Given the description of an element on the screen output the (x, y) to click on. 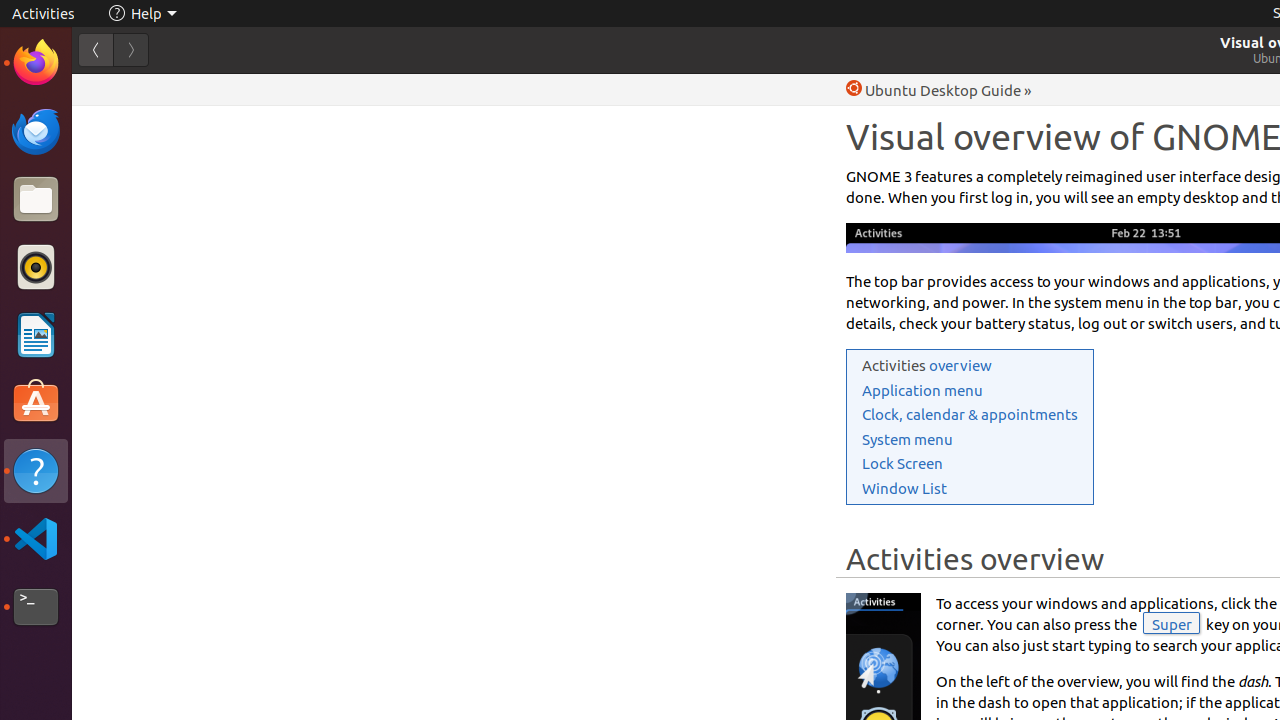
luyi1 Element type: label (133, 89)
Super Element type: link (1171, 622)
